Given the description of an element on the screen output the (x, y) to click on. 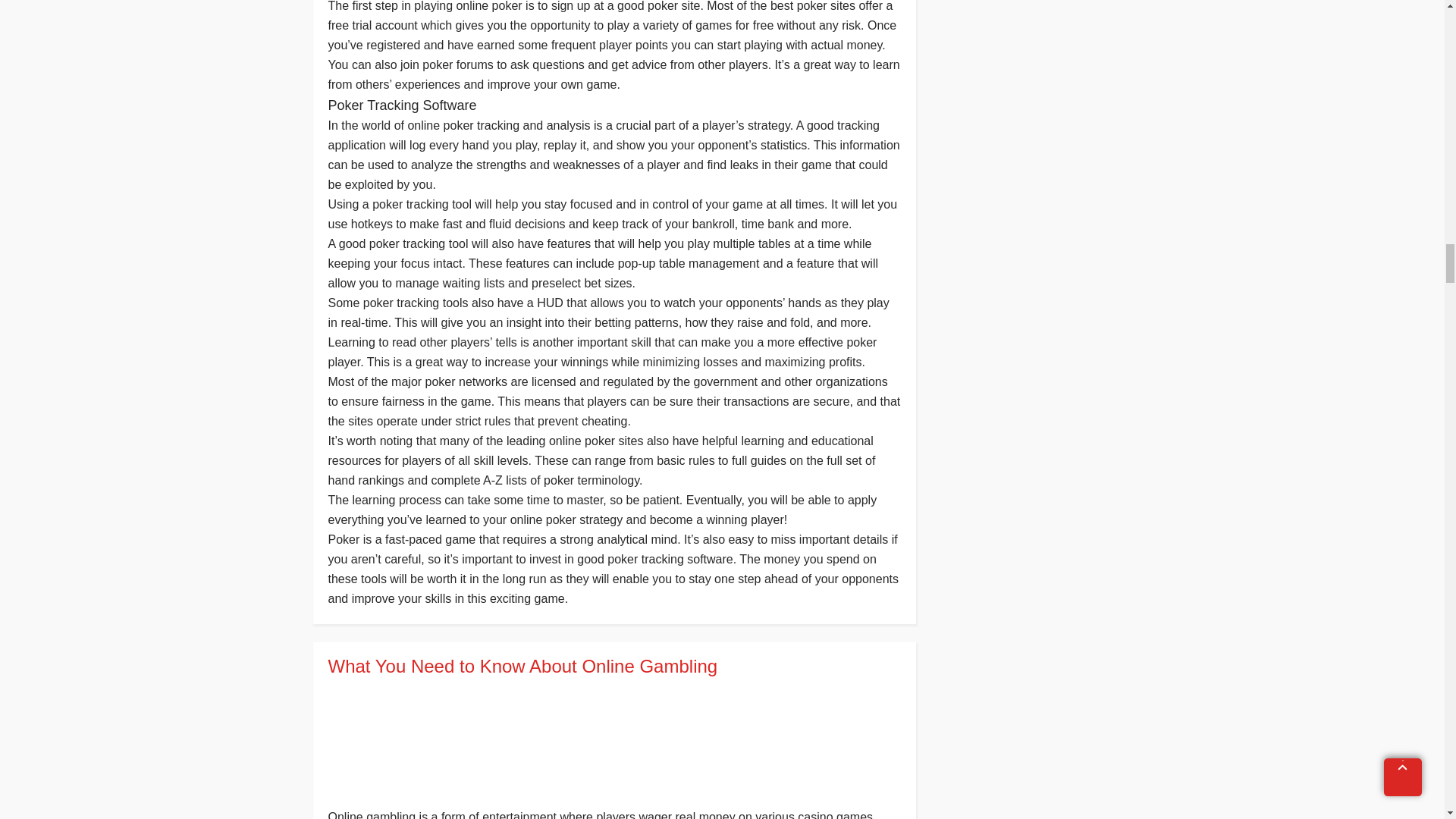
What You Need to Know About Online Gambling (613, 666)
